Given the description of an element on the screen output the (x, y) to click on. 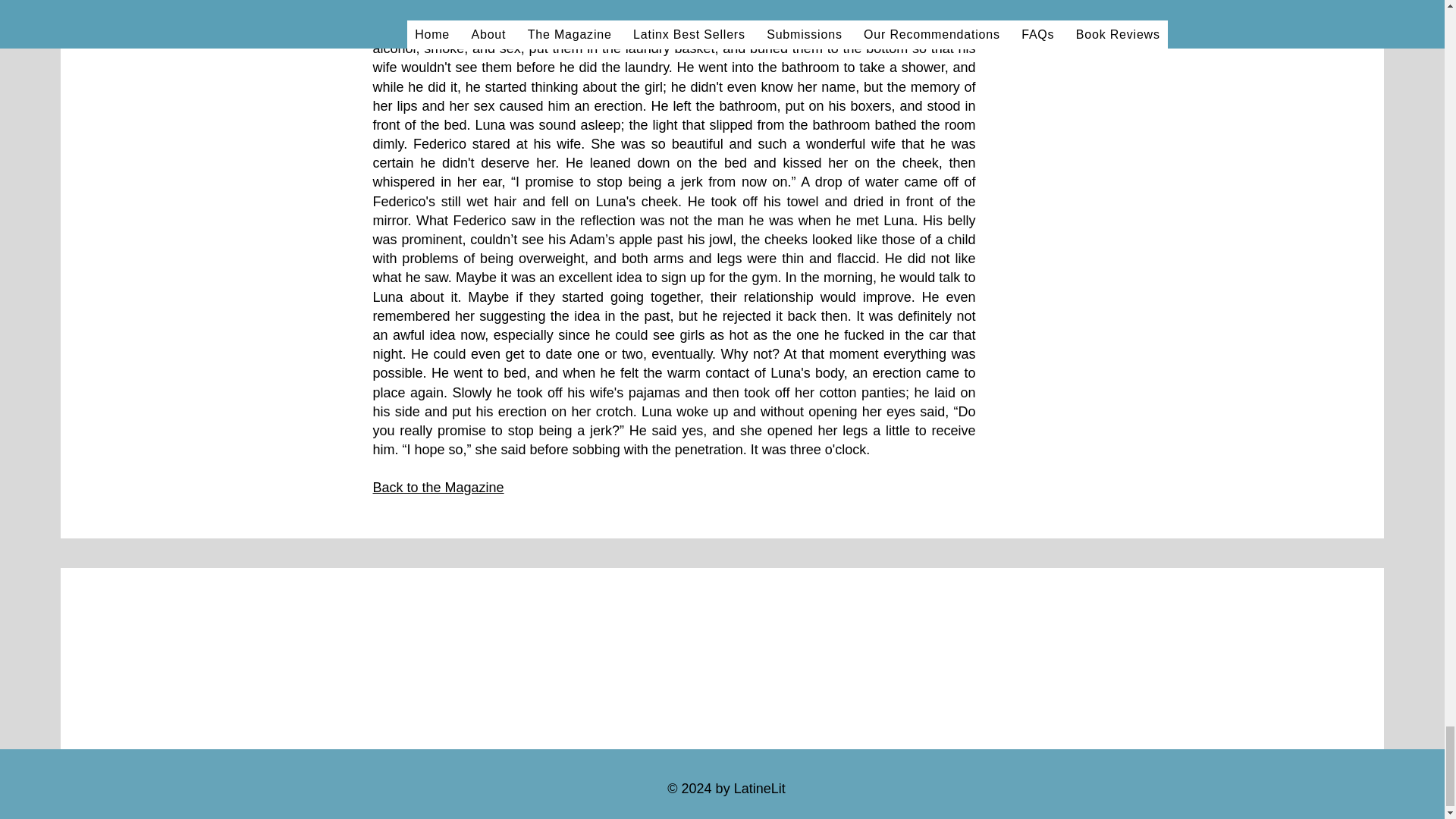
Back to the Magazine (437, 487)
